Given the description of an element on the screen output the (x, y) to click on. 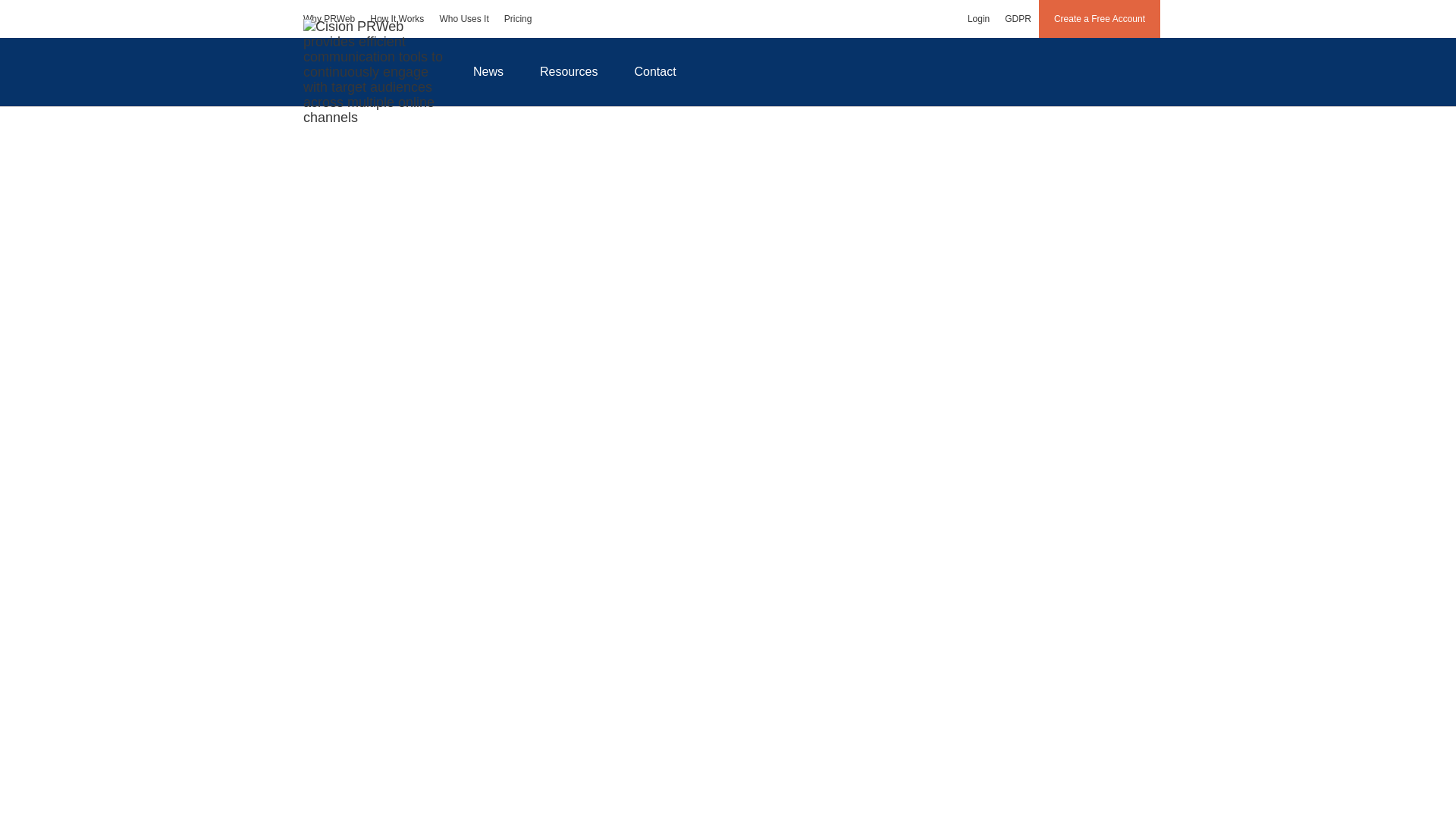
Login (978, 18)
Who Uses It (463, 18)
Why PRWeb (328, 18)
Create a Free Account (1099, 18)
Resources (568, 71)
Pricing (518, 18)
News (487, 71)
Contact (654, 71)
How It Works (396, 18)
GDPR (1018, 18)
